Given the description of an element on the screen output the (x, y) to click on. 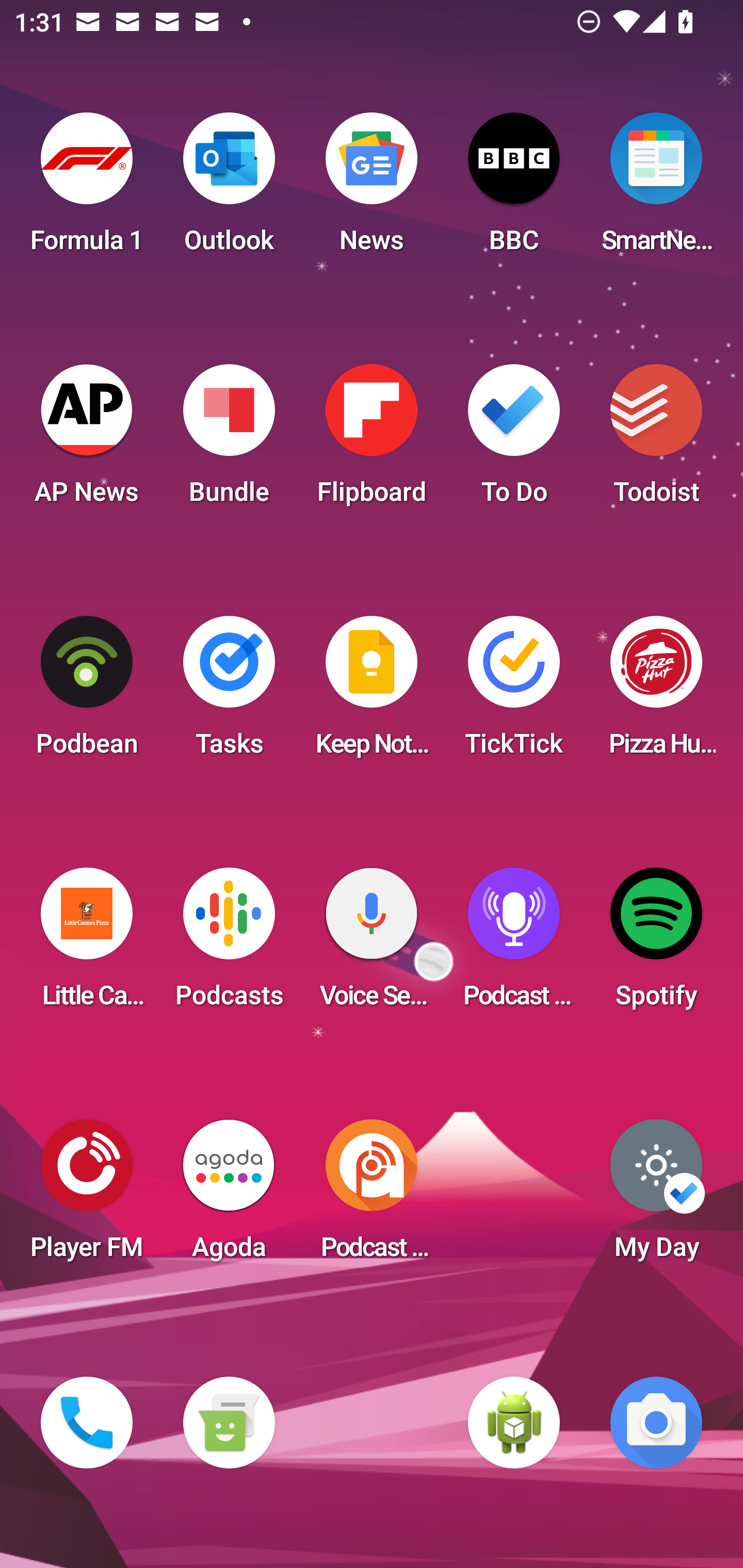
Formula 1 (86, 188)
Outlook (228, 188)
News (371, 188)
BBC (513, 188)
SmartNews (656, 188)
AP News (86, 440)
Bundle (228, 440)
Flipboard (371, 440)
To Do (513, 440)
Todoist (656, 440)
Podbean (86, 692)
Tasks (228, 692)
Keep Notes (371, 692)
TickTick (513, 692)
Pizza Hut HK & Macau (656, 692)
Little Caesars Pizza (86, 943)
Podcasts (228, 943)
Voice Search (371, 943)
Podcast Player (513, 943)
Spotify (656, 943)
Player FM (86, 1195)
Agoda (228, 1195)
Podcast Addict (371, 1195)
My Day (656, 1195)
Phone (86, 1422)
Messaging (228, 1422)
WebView Browser Tester (513, 1422)
Camera (656, 1422)
